Given the description of an element on the screen output the (x, y) to click on. 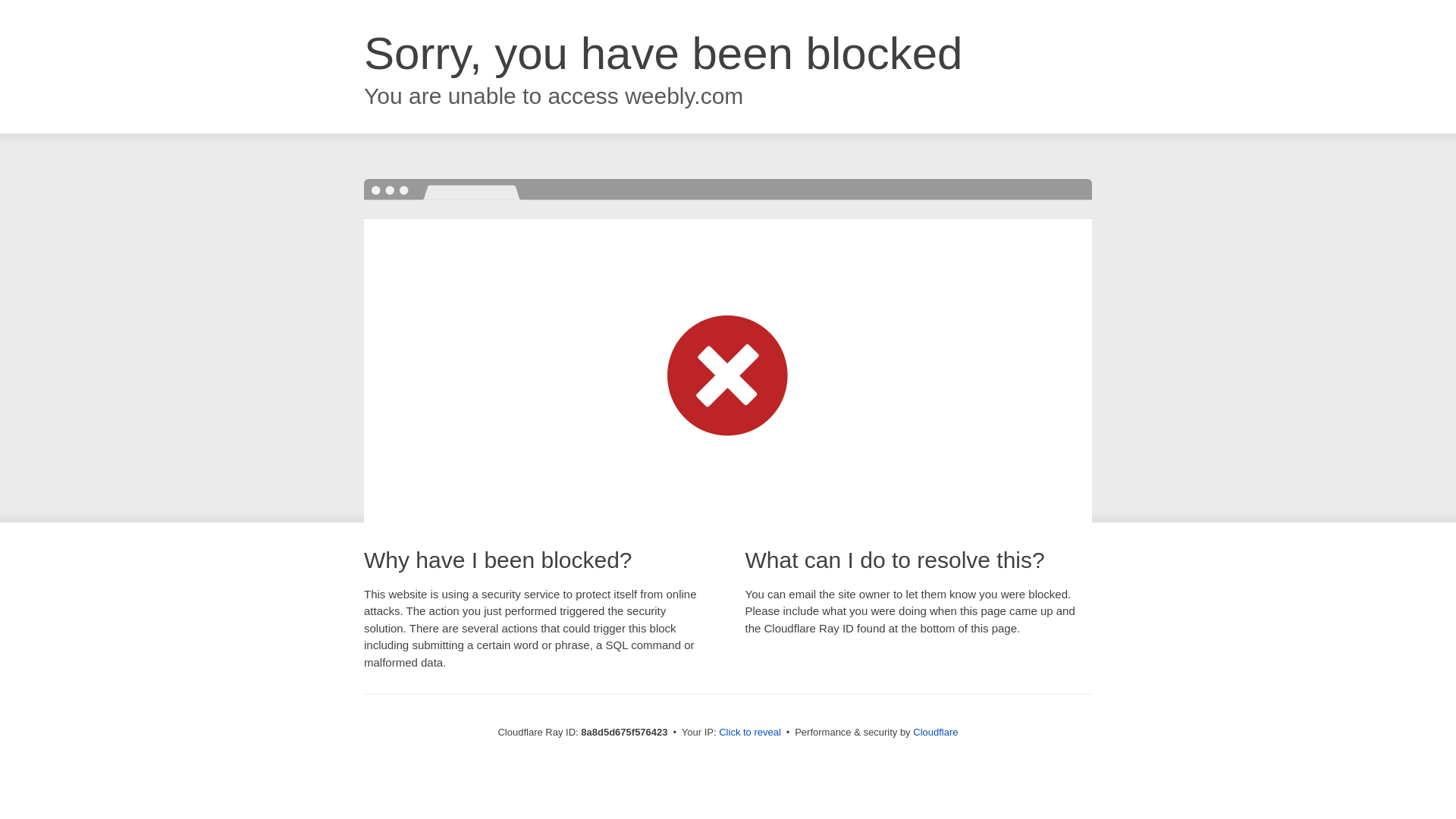
Click to reveal (749, 732)
Cloudflare (935, 731)
